Given the description of an element on the screen output the (x, y) to click on. 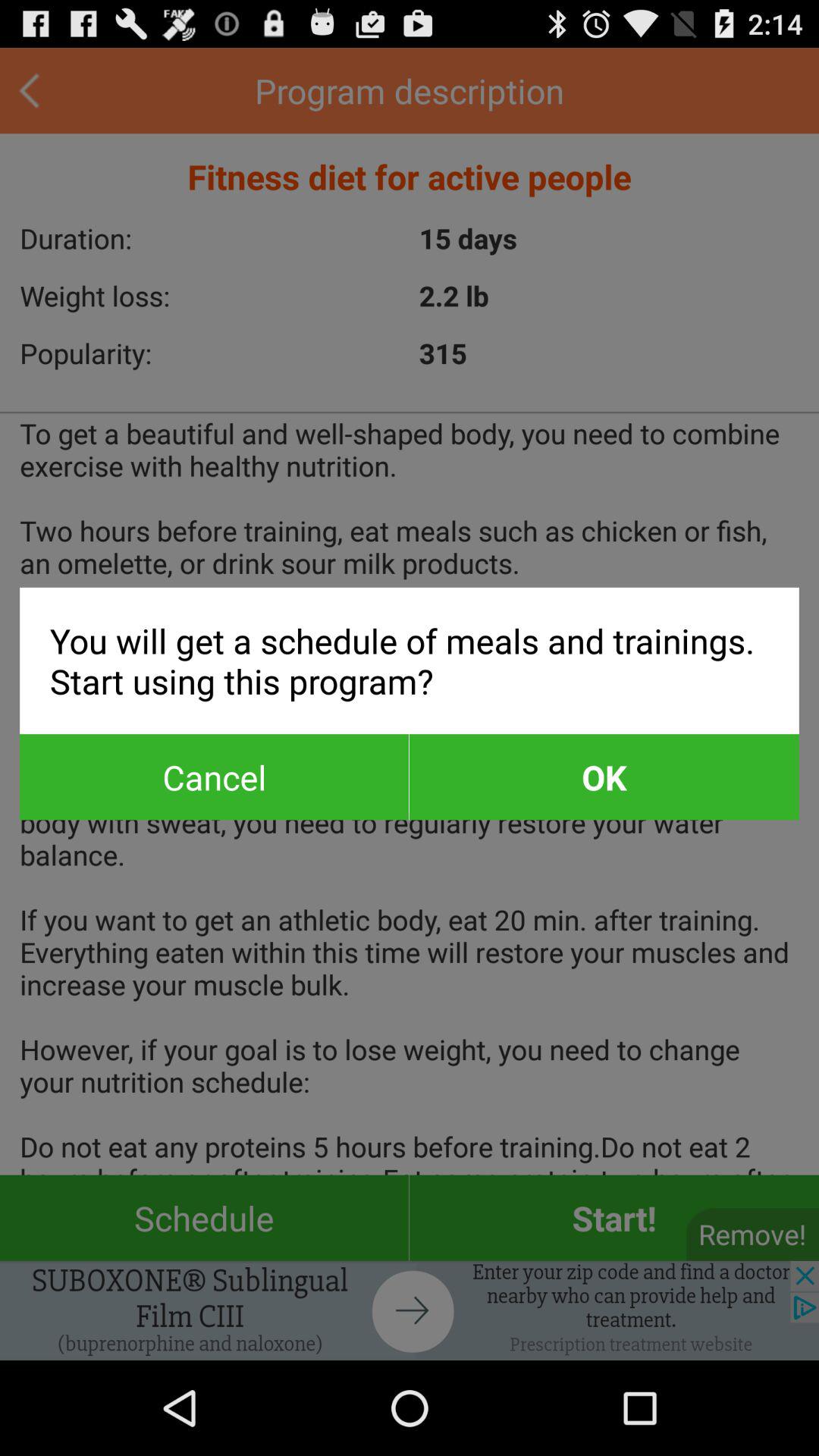
turn on the ok on the right (604, 777)
